Given the description of an element on the screen output the (x, y) to click on. 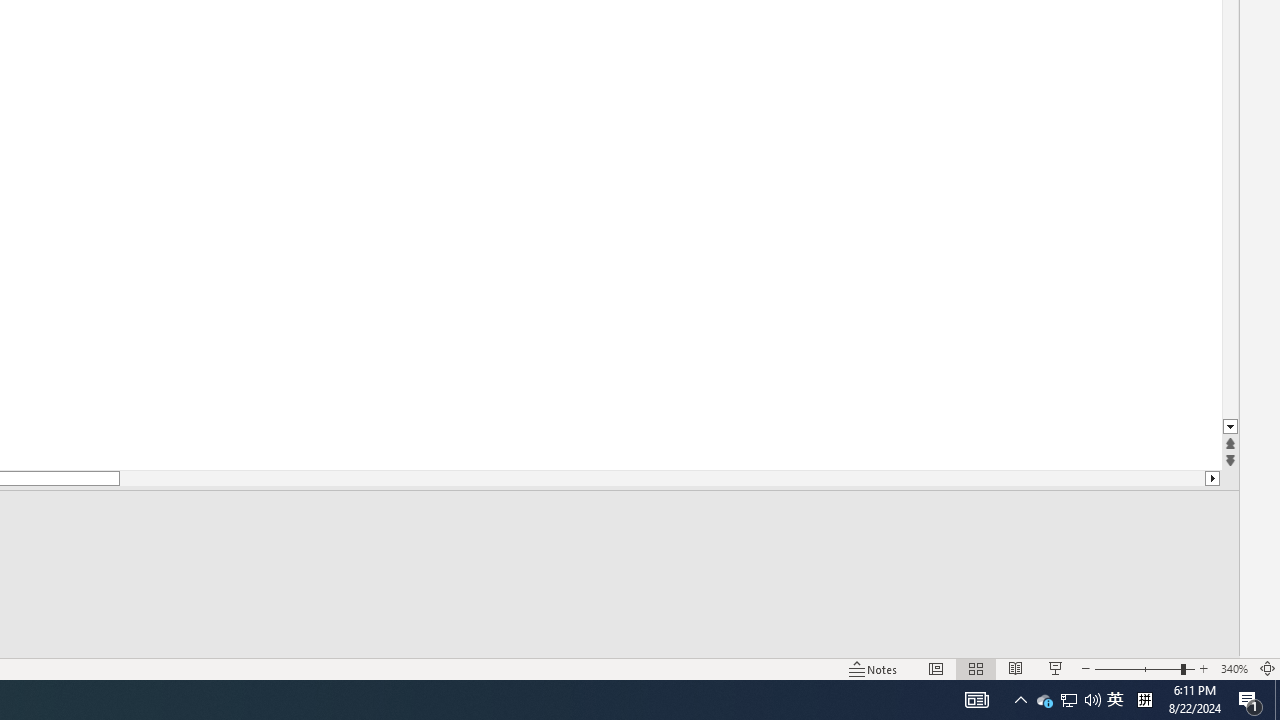
Zoom 340% (1234, 668)
